Given the description of an element on the screen output the (x, y) to click on. 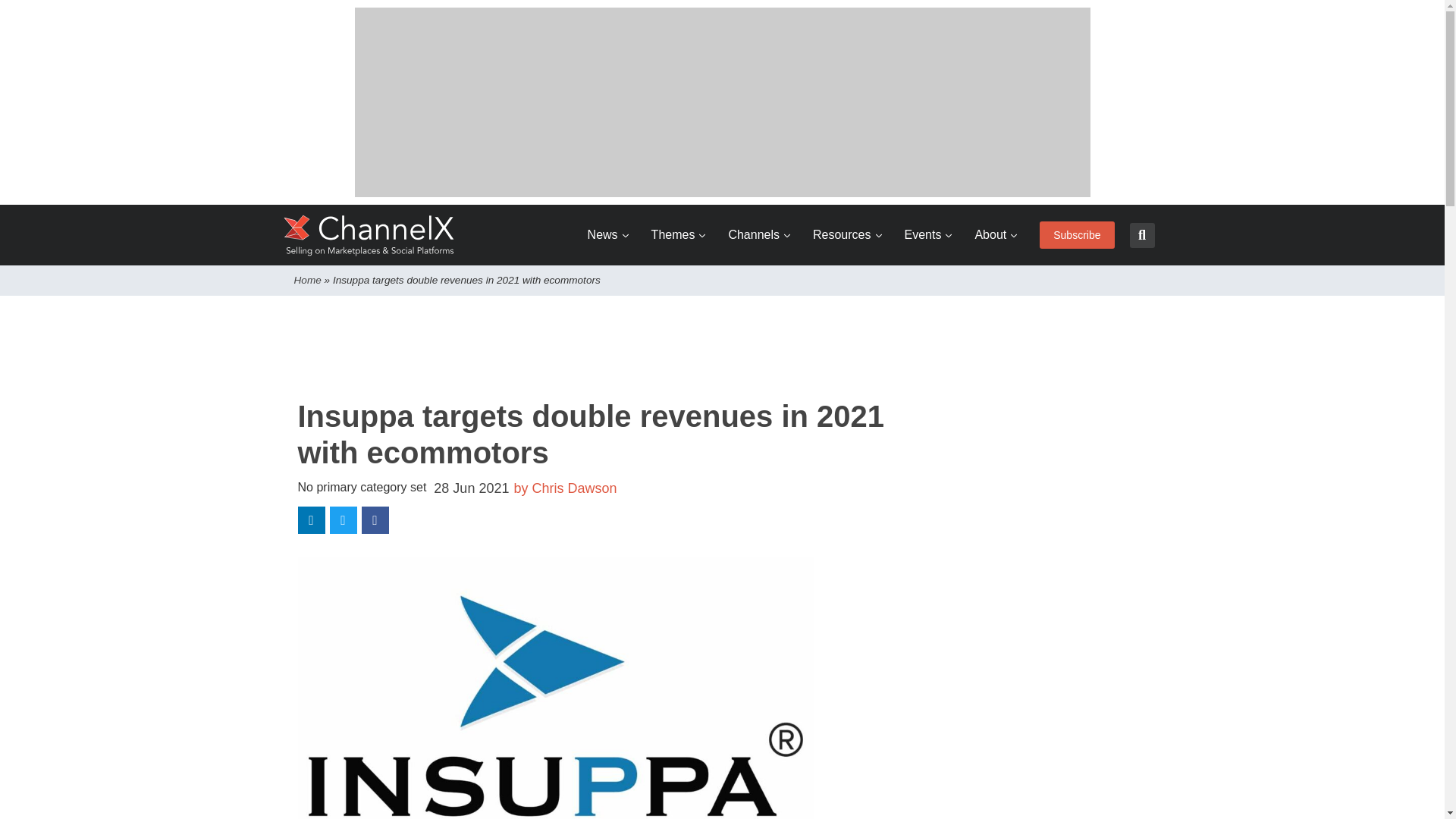
Channels (758, 234)
Resources (846, 234)
Themes (678, 234)
ChannelX Home Page (369, 234)
News (607, 234)
